Given the description of an element on the screen output the (x, y) to click on. 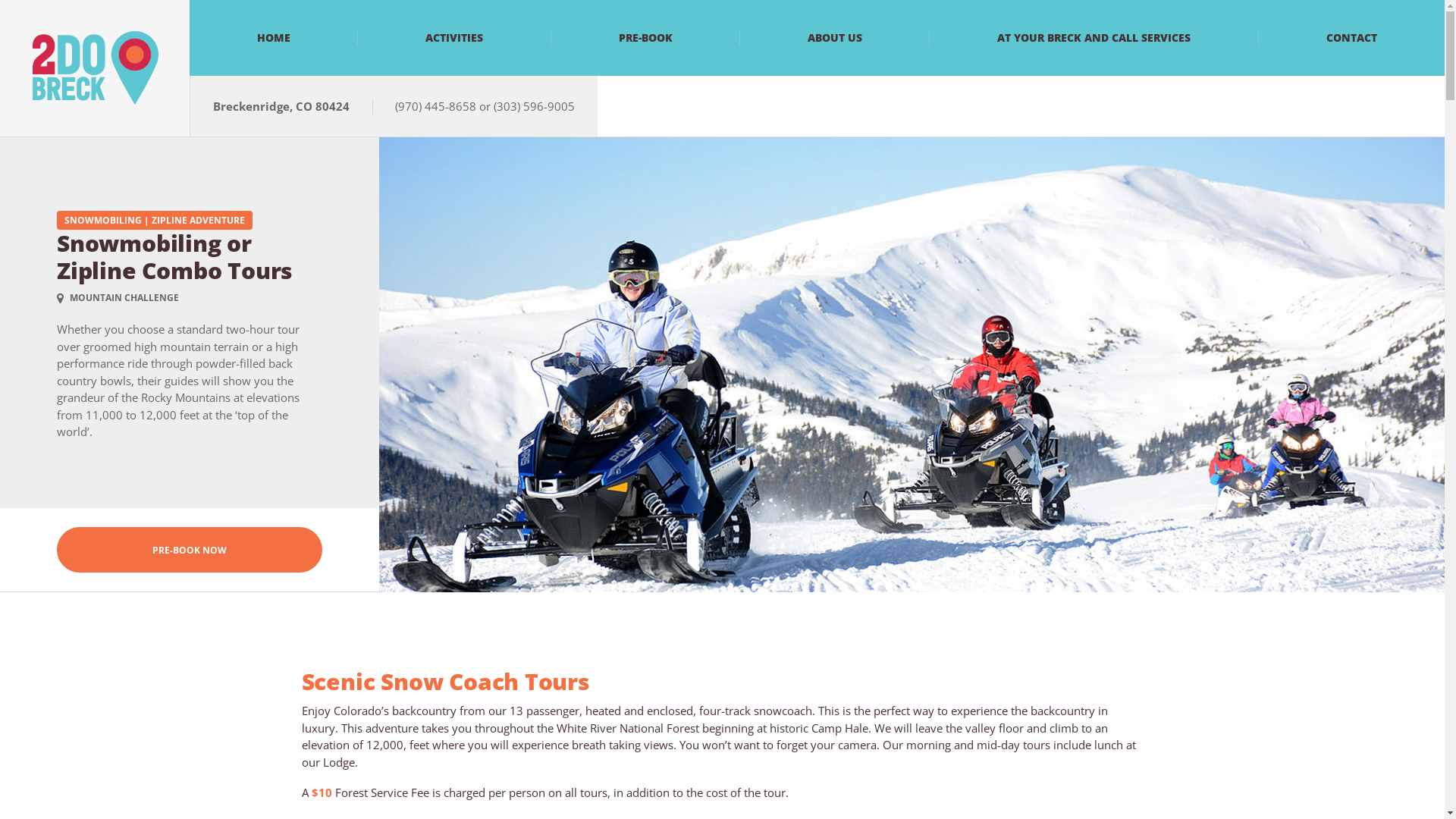
PRE-BOOK Element type: text (645, 37)
CONTACT Element type: text (1351, 37)
ACTIVITIES Element type: text (453, 37)
PRE-BOOK NOW Element type: text (189, 549)
HOME Element type: text (273, 37)
AT YOUR BRECK AND CALL SERVICES Element type: text (1093, 37)
ABOUT US Element type: text (834, 37)
